Given the description of an element on the screen output the (x, y) to click on. 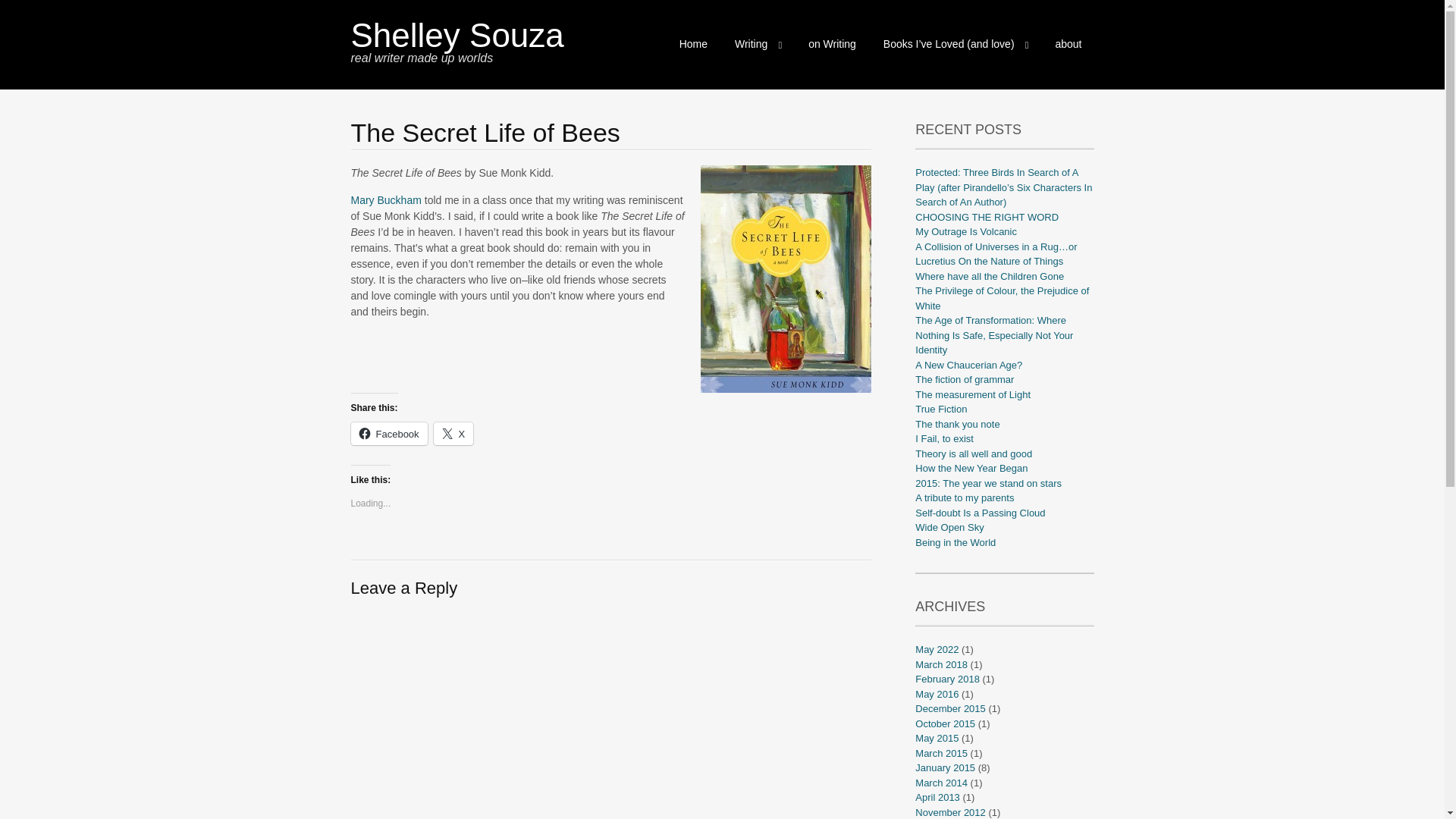
The Privilege of Colour, the Prejudice of White (1002, 298)
Where have all the Children Gone (989, 275)
Self-doubt Is a Passing Cloud (980, 511)
A New Chaucerian Age? (968, 365)
on Writing (831, 44)
The measurement of Light (972, 393)
The fiction of grammar (964, 378)
Theory is all well and good (973, 452)
True Fiction (940, 408)
Facebook (388, 433)
Mary Buckham (385, 200)
Home (692, 44)
Mary Buckham (385, 200)
about (1067, 44)
